Given the description of an element on the screen output the (x, y) to click on. 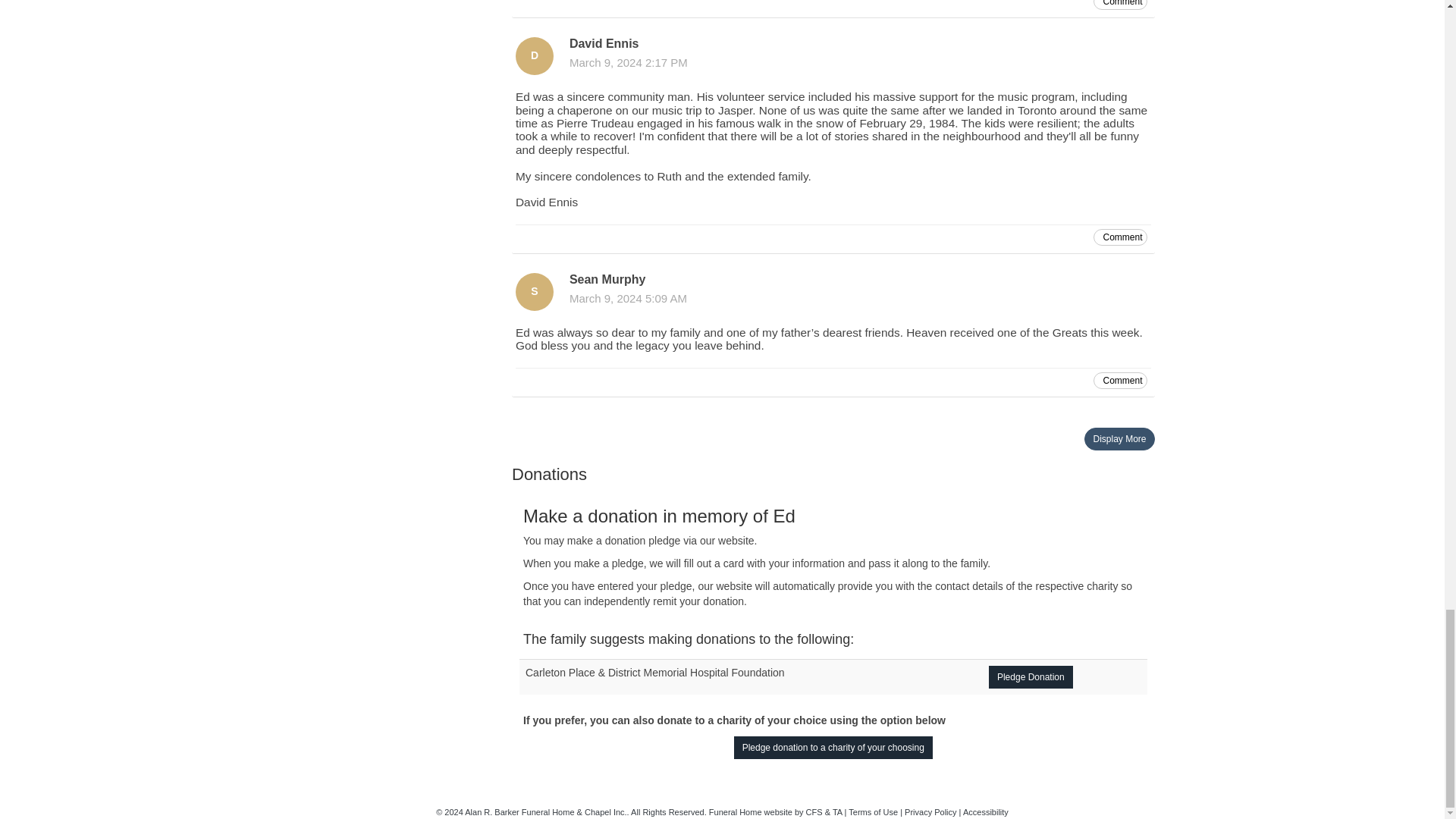
  Comment (1120, 4)
Pledge donation to a charity of your choosing (833, 747)
  Comment (1120, 237)
Pledge Donation (1030, 676)
Sean Murphy (534, 291)
  Comment (1120, 380)
David Ennis (534, 55)
Display More (1119, 438)
